Given the description of an element on the screen output the (x, y) to click on. 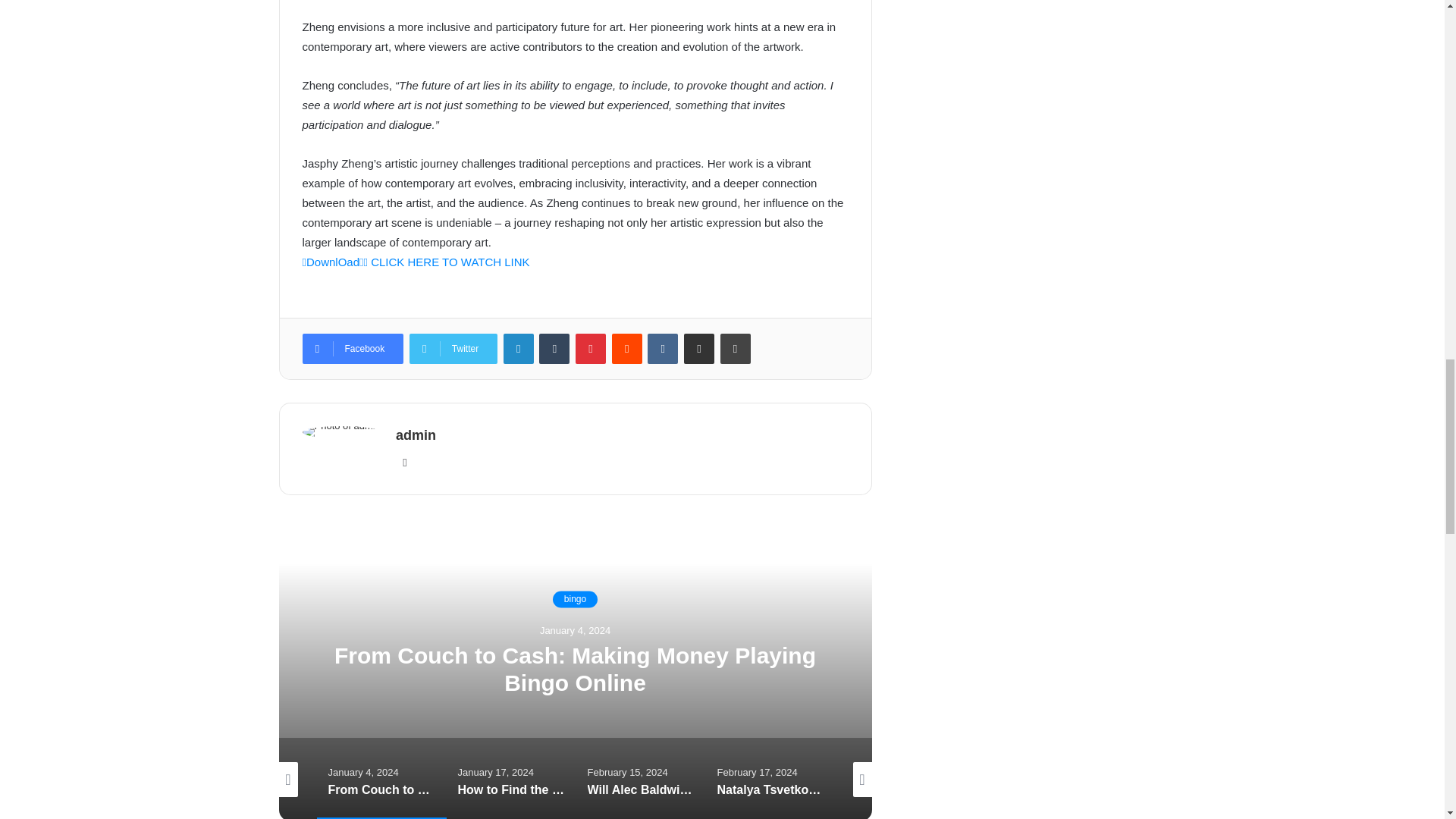
Twitter (453, 348)
LinkedIn (518, 348)
Share via Email (699, 348)
Tumblr (553, 348)
admin (415, 435)
VKontakte (662, 348)
VKontakte (662, 348)
Facebook (352, 348)
Share via Email (699, 348)
Facebook (352, 348)
